Given the description of an element on the screen output the (x, y) to click on. 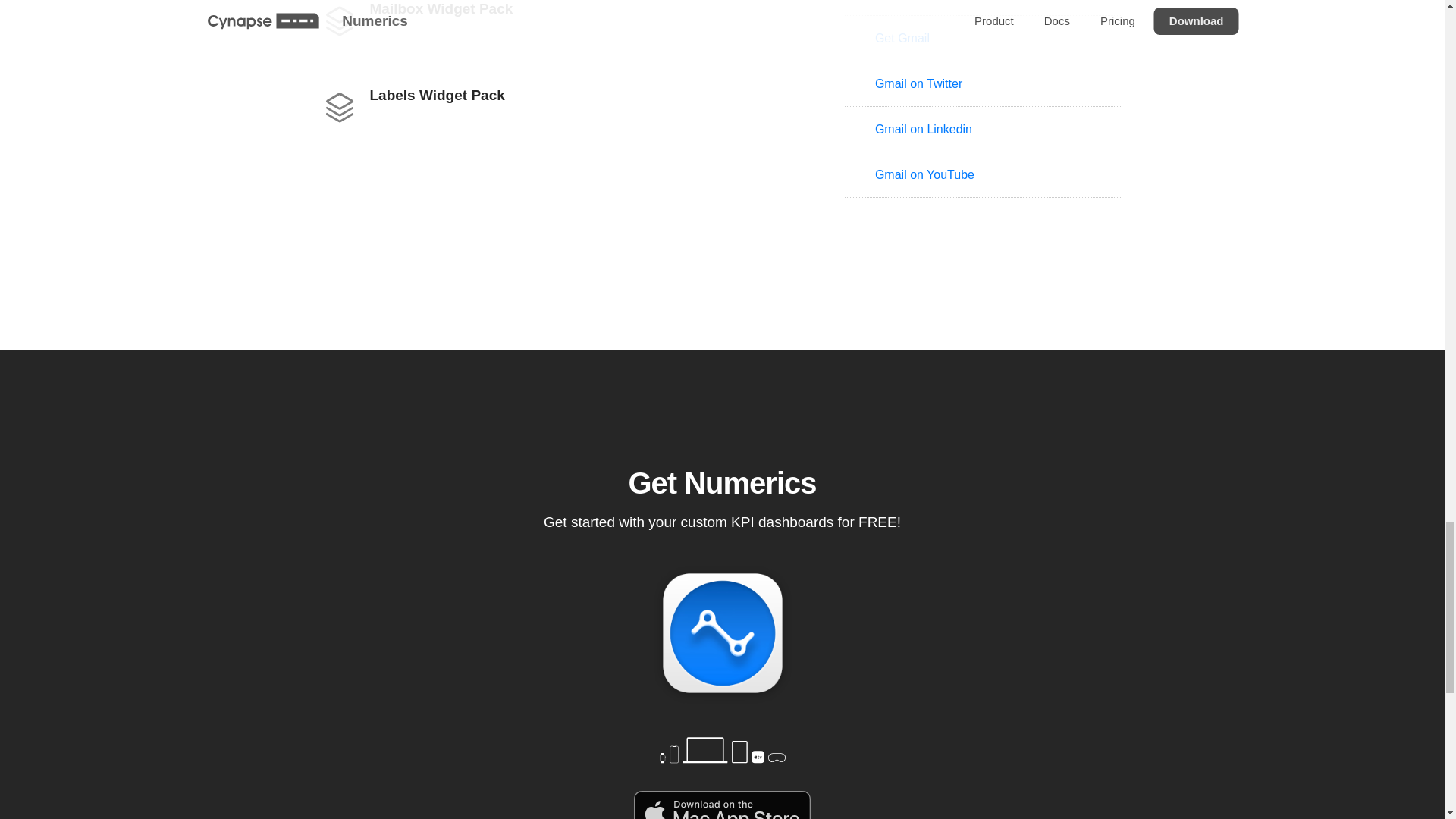
Get Gmail (546, 105)
Gmail Support (982, 38)
Gmail on YouTube (982, 7)
Gmail on Linkedin (546, 19)
Gmail on Twitter (982, 175)
